Given the description of an element on the screen output the (x, y) to click on. 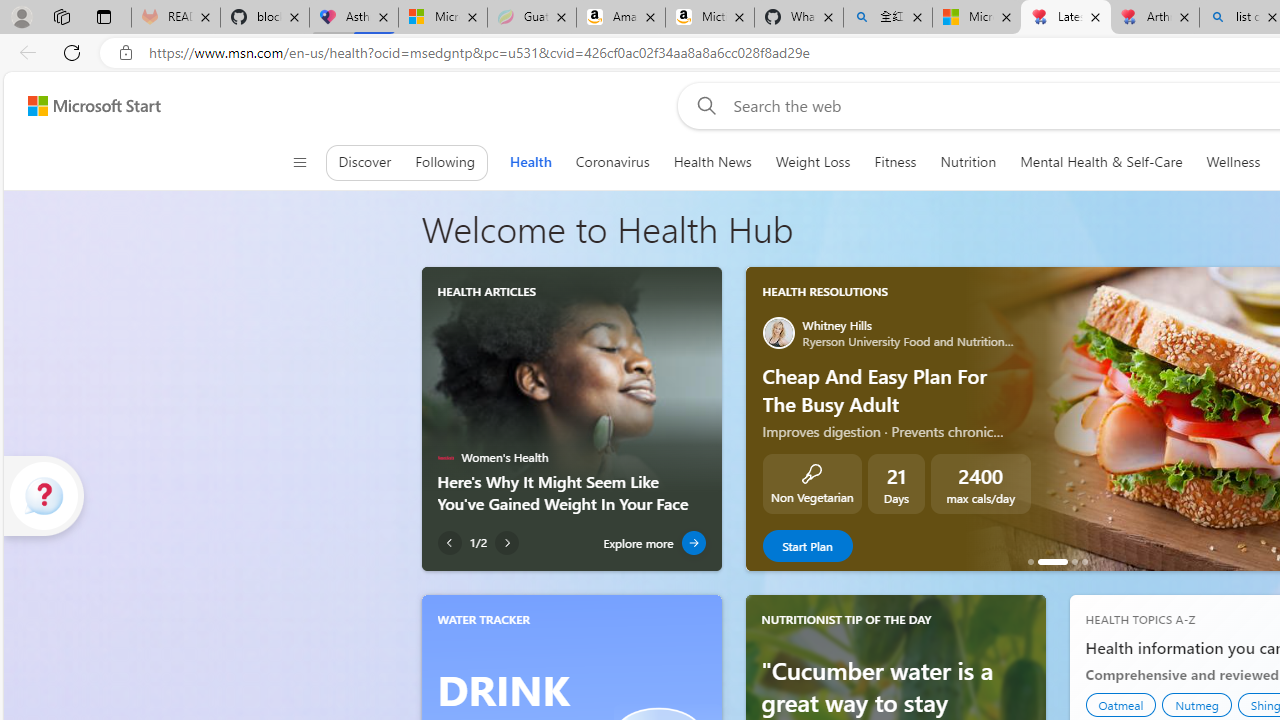
Wellness (1233, 161)
Pictorial representation related to the article (571, 379)
HEALTH ARTICLES (486, 291)
7 Day Belly Fat Loss Plan (1084, 561)
Fitness (895, 161)
Next Article (507, 543)
Nutmeg (1196, 704)
Start Plan (806, 545)
